Given the description of an element on the screen output the (x, y) to click on. 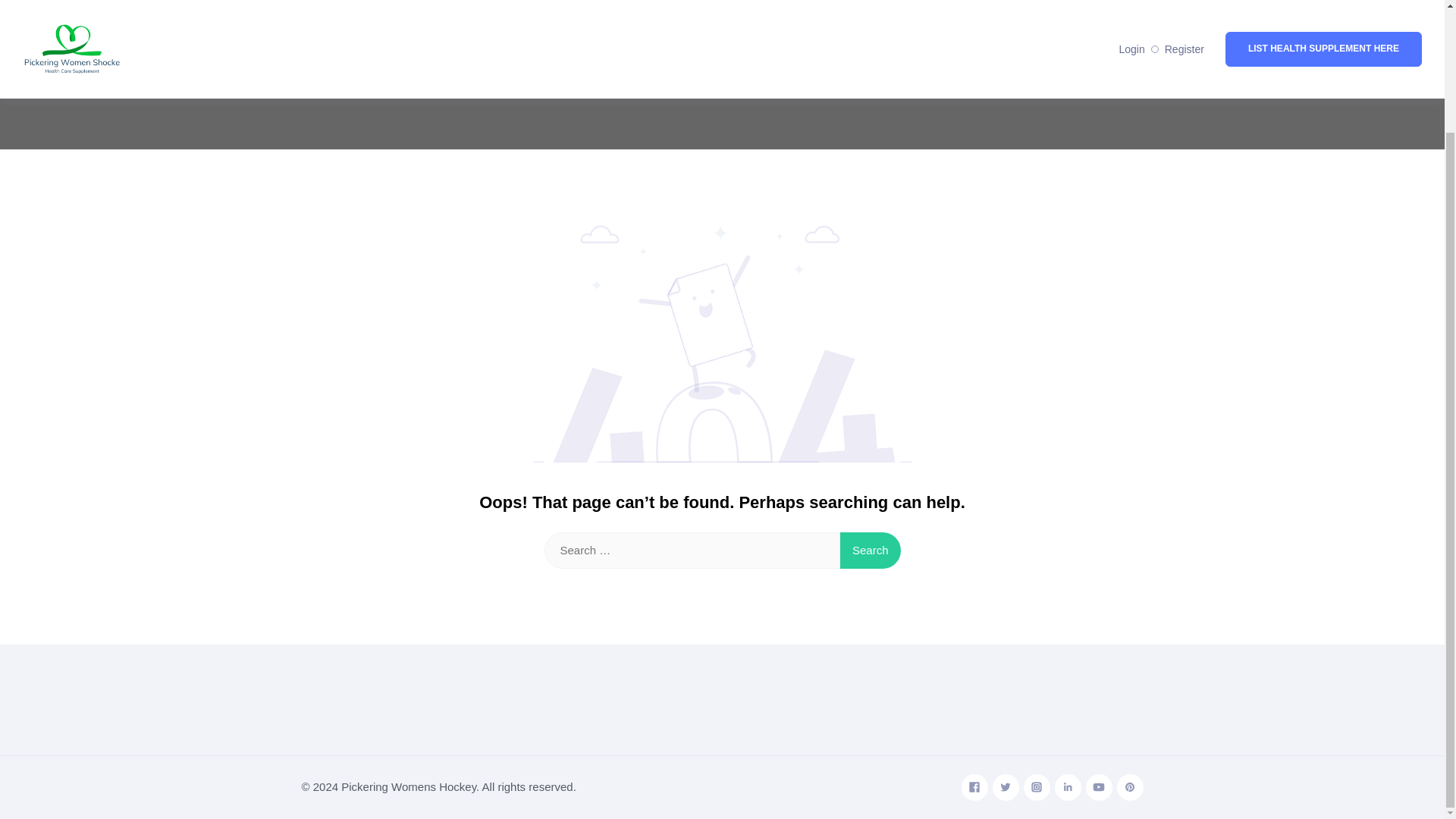
Search (870, 550)
Search (870, 550)
Search (870, 550)
